Given the description of an element on the screen output the (x, y) to click on. 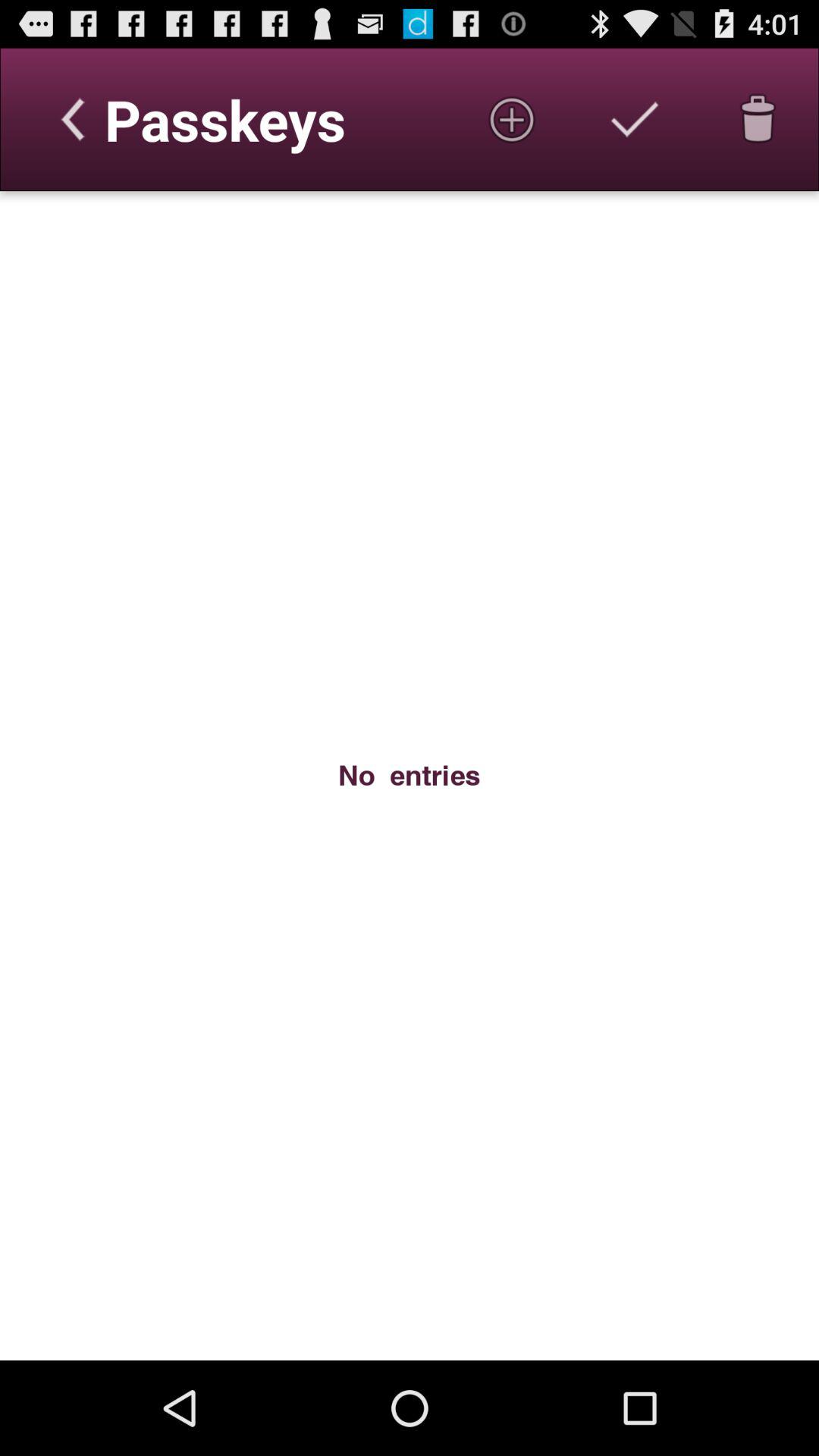
save or accepted (634, 119)
